Given the description of an element on the screen output the (x, y) to click on. 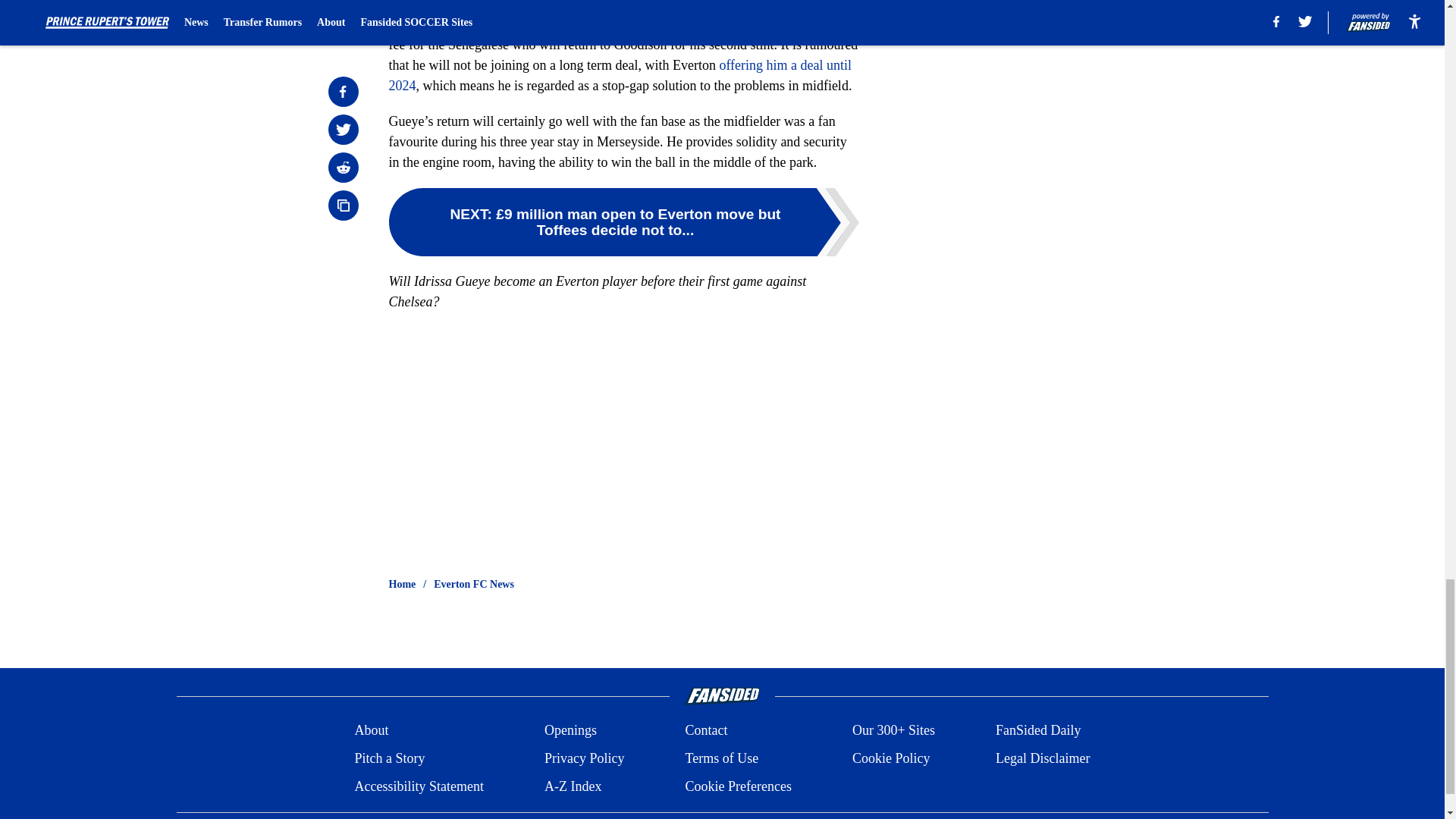
Openings (570, 730)
Accessibility Statement (418, 786)
About (370, 730)
Legal Disclaimer (1042, 758)
Privacy Policy (584, 758)
Contact (705, 730)
Everton FC News (473, 584)
Pitch a Story (389, 758)
Get Football News France (625, 5)
offering him a deal until 2024 (619, 75)
